Given the description of an element on the screen output the (x, y) to click on. 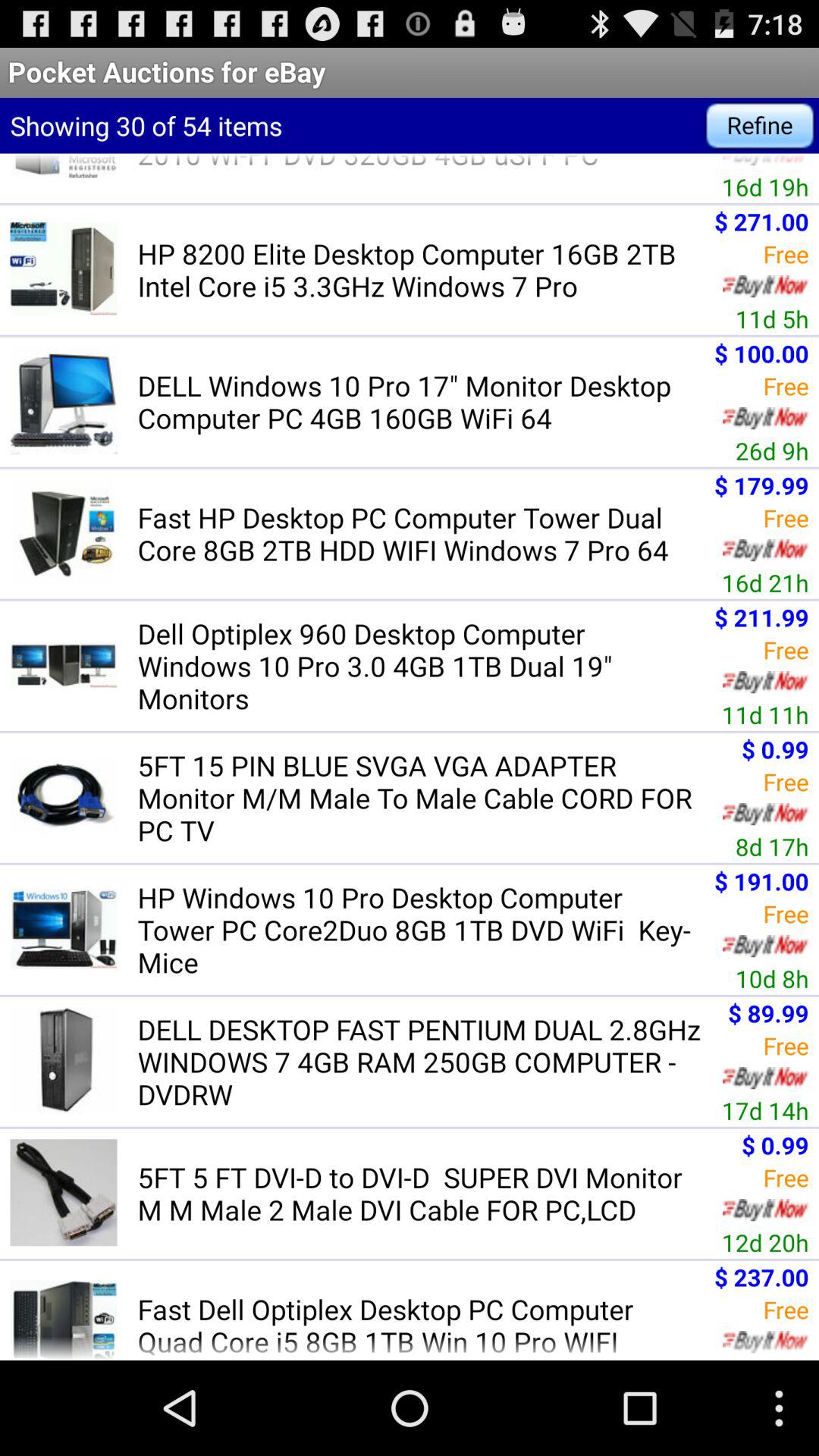
click icon next to the hp 8200 elite item (771, 318)
